Given the description of an element on the screen output the (x, y) to click on. 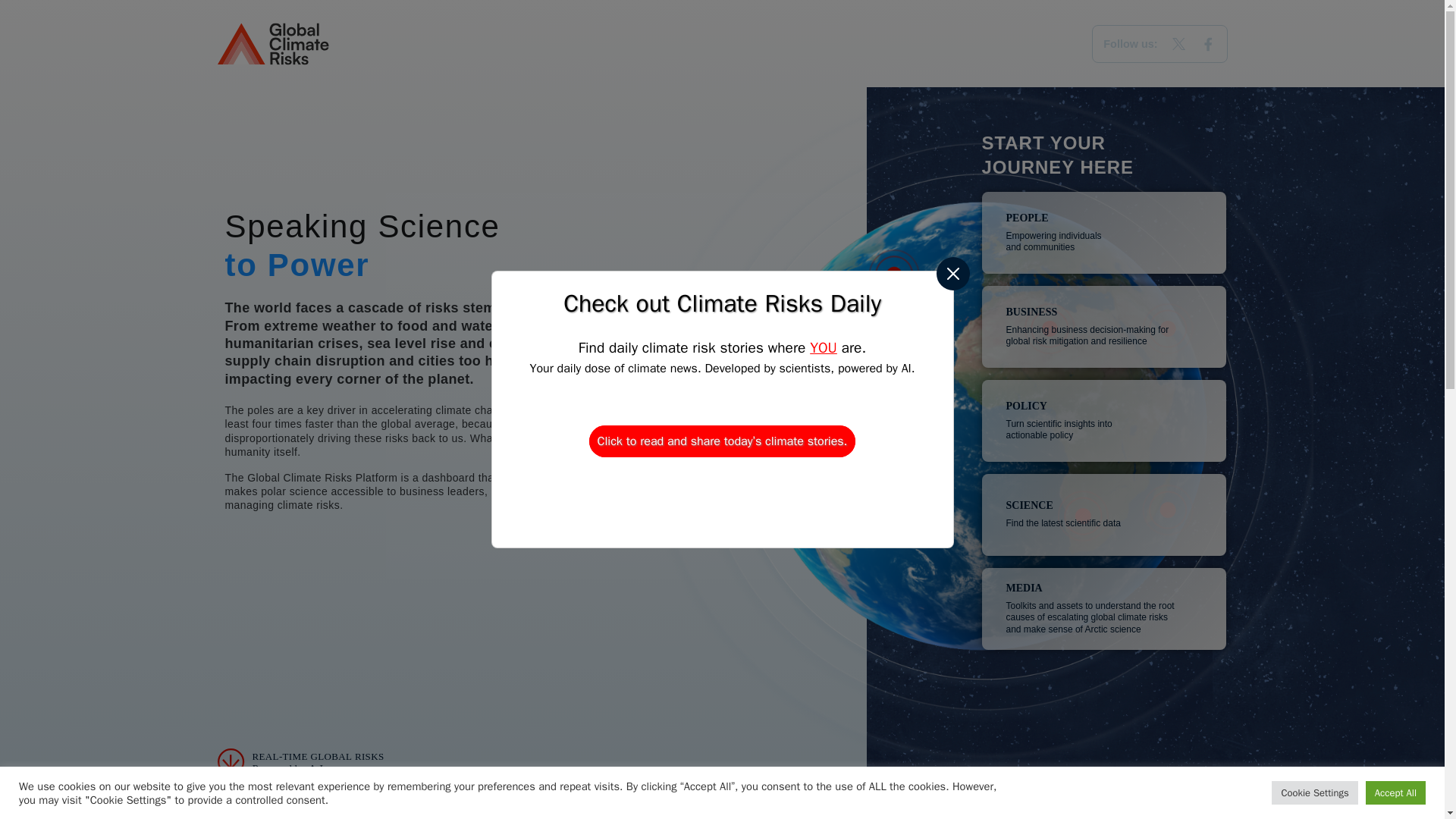
YOU (300, 762)
